Given the description of an element on the screen output the (x, y) to click on. 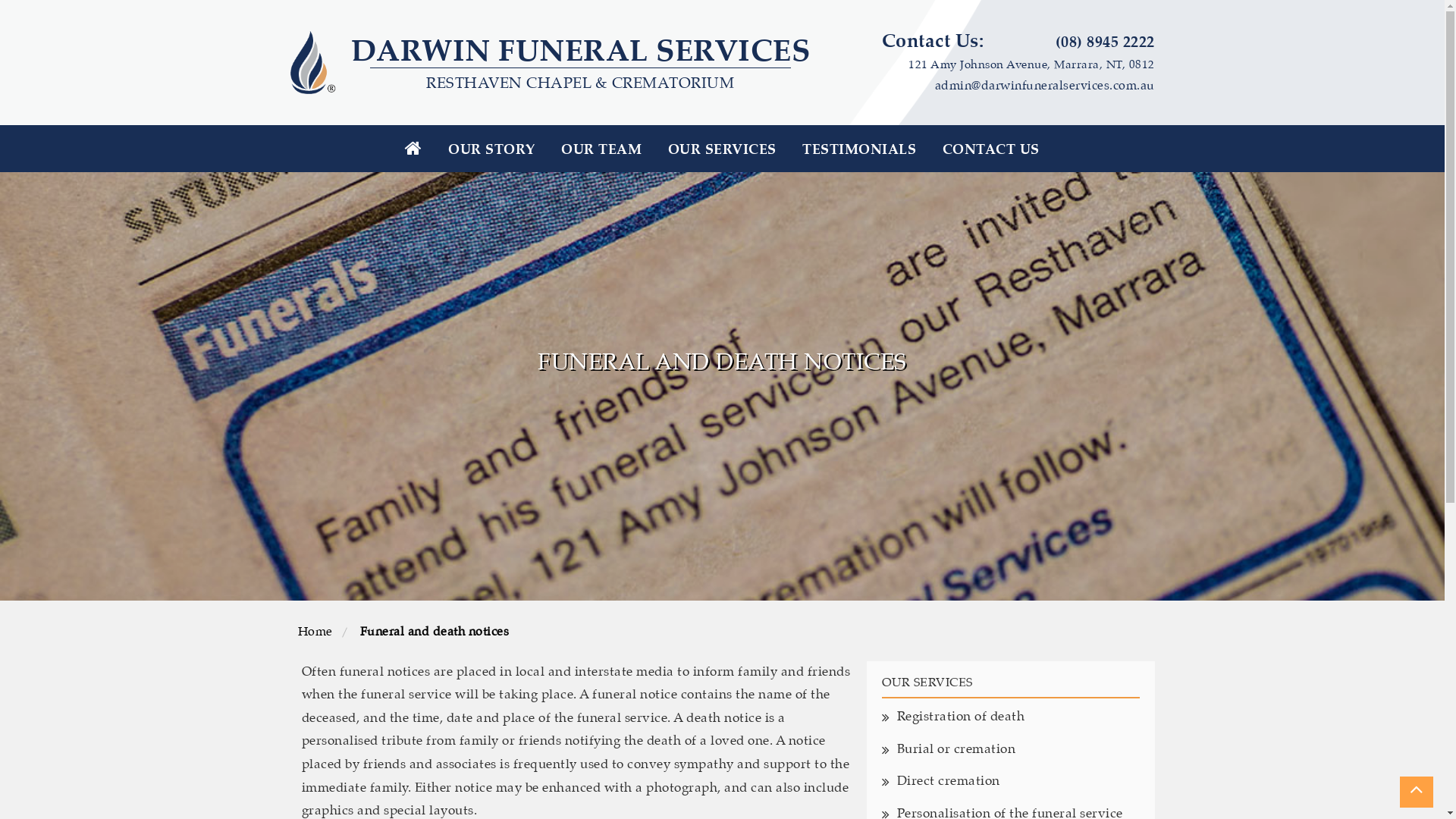
TESTIMONIALS Element type: text (859, 148)
(08) 8945 2222 Element type: text (1104, 41)
OUR SERVICES Element type: text (722, 148)
Registration of death Element type: text (1018, 717)
DARWIN FUNERAL SERVICES Element type: text (579, 49)
OUR STORY Element type: text (491, 148)
OUR TEAM Element type: text (601, 148)
CONTACT US Element type: text (990, 148)
Home Element type: text (316, 631)
Direct cremation Element type: text (1018, 781)
admin@darwinfuneralservices.com.au Element type: text (1044, 85)
Burial or cremation Element type: text (1018, 750)
